Given the description of an element on the screen output the (x, y) to click on. 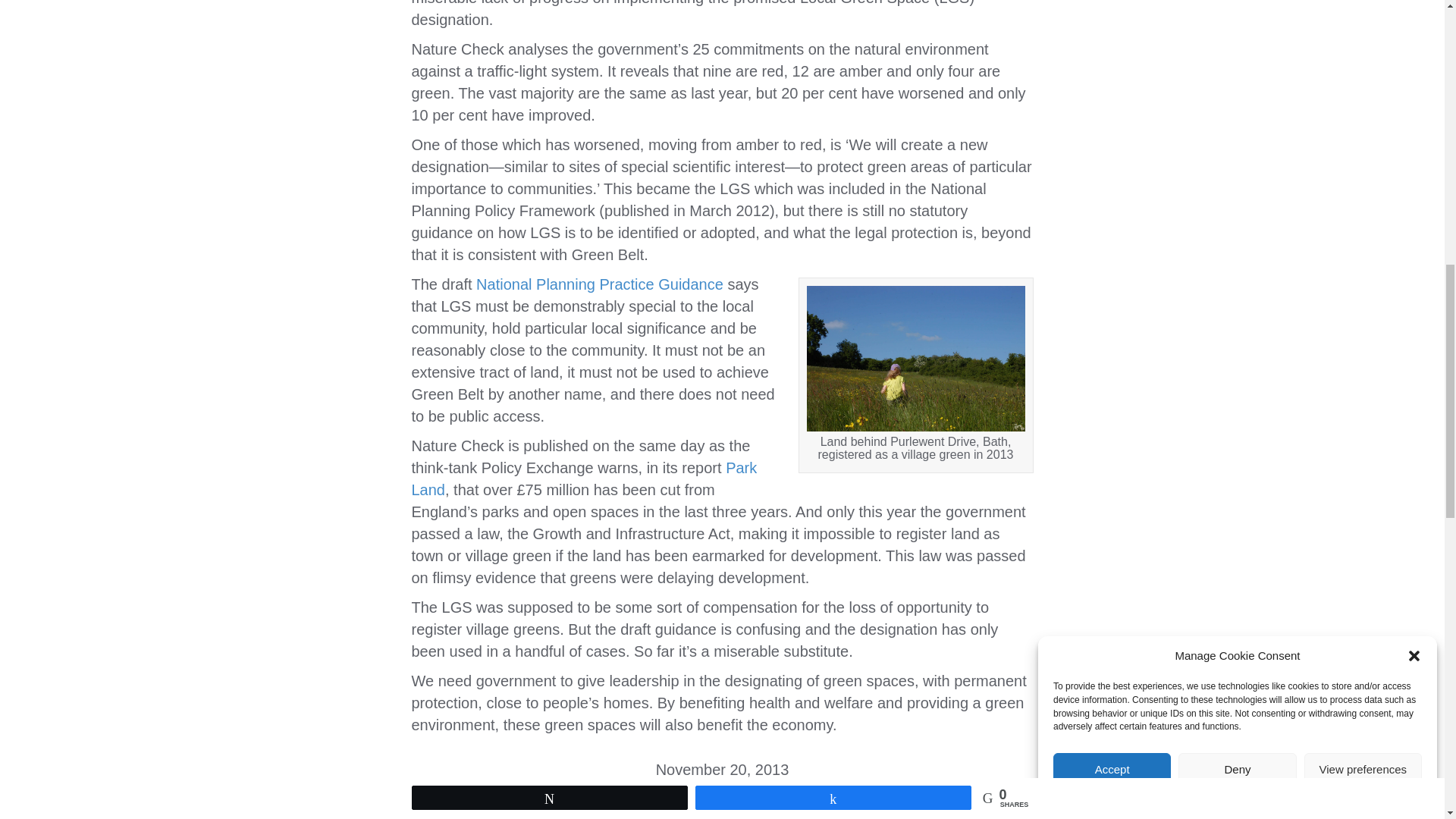
Deny (1236, 192)
Cookie Policy (1196, 132)
Privacy Statement (1268, 111)
Accept (1111, 223)
View preferences (1363, 177)
